Given the description of an element on the screen output the (x, y) to click on. 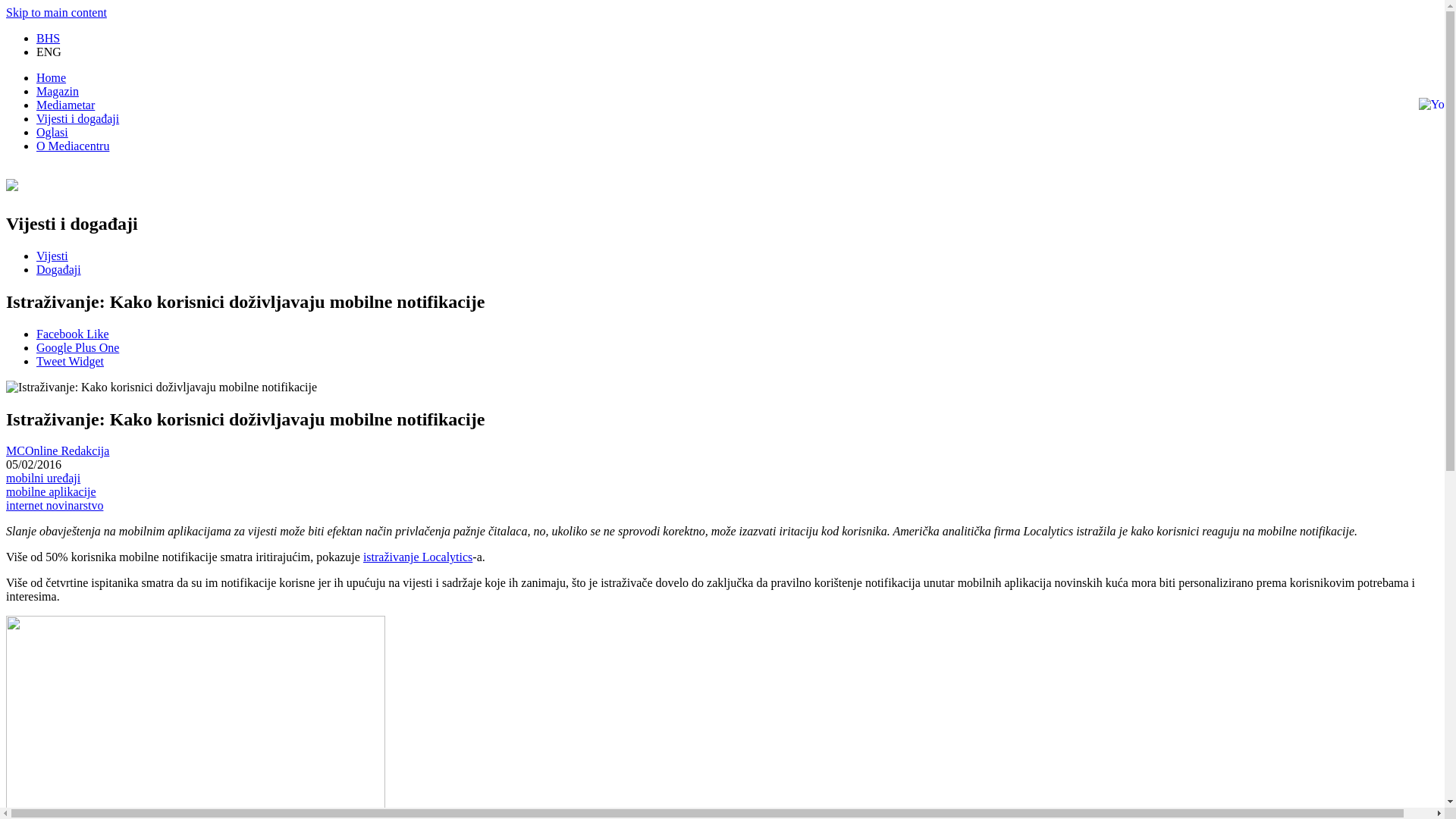
Facebook Like Element type: text (72, 333)
mobilne aplikacije Element type: text (51, 491)
Google Plus One Element type: text (77, 347)
MCOnline Redakcija Element type: text (57, 450)
Mediametar Element type: text (65, 104)
Magazin Element type: text (57, 90)
internet novinarstvo Element type: text (54, 504)
BHS Element type: text (47, 37)
Skip to main content Element type: text (56, 12)
Oglasi Element type: text (52, 131)
Tweet Widget Element type: text (69, 360)
Home Element type: text (50, 77)
Vijesti Element type: text (52, 255)
O Mediacentru Element type: text (72, 145)
